Given the description of an element on the screen output the (x, y) to click on. 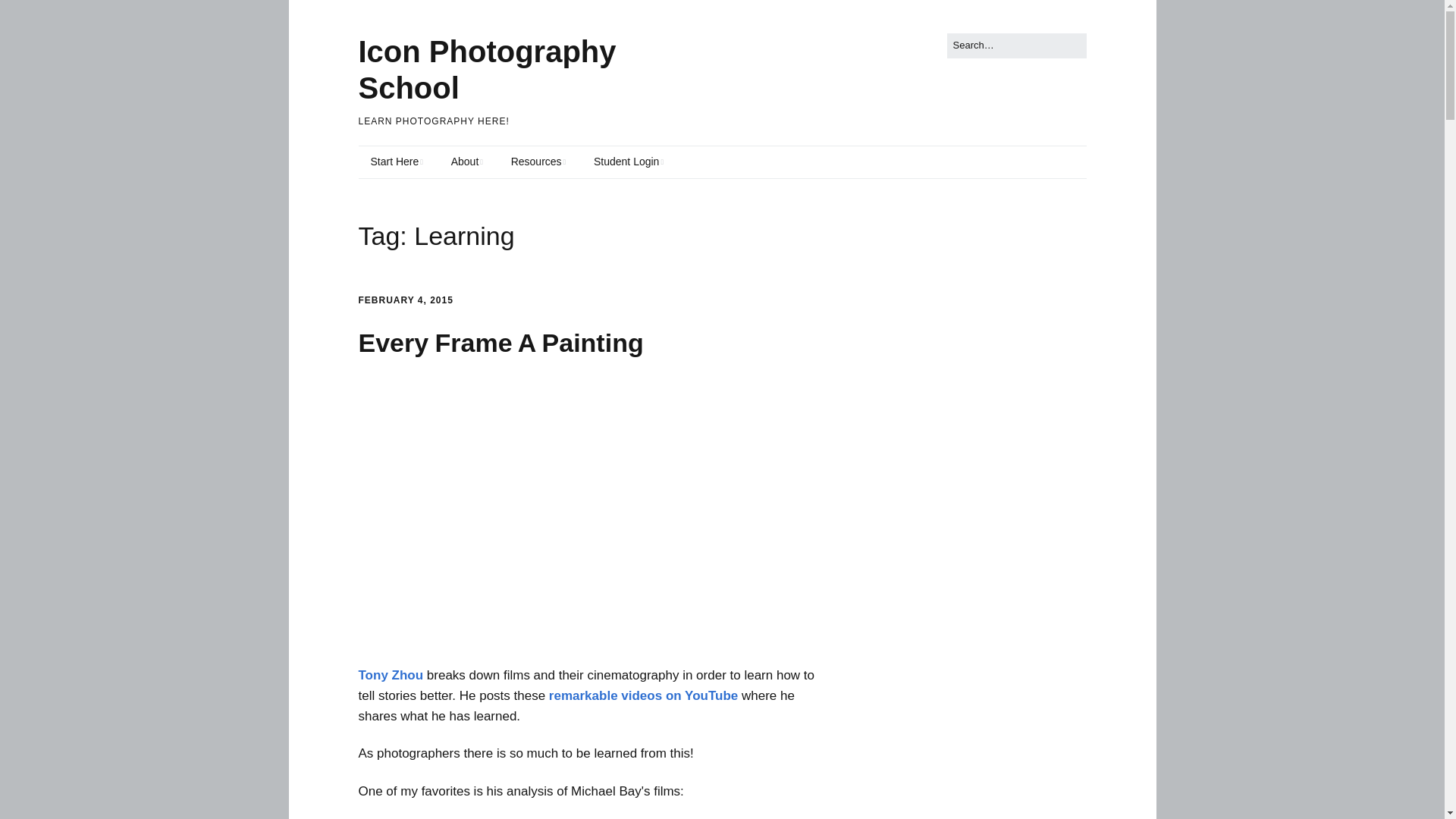
Tony Zhou (390, 675)
Press Enter to submit your search (1016, 45)
Start Here (395, 162)
About (467, 162)
Every Frame A Painting (500, 342)
Search (29, 15)
remarkable videos on YouTube (643, 695)
Student Login (627, 162)
FEBRUARY 4, 2015 (405, 299)
Icon Photography School (486, 69)
Resources (538, 162)
